Given the description of an element on the screen output the (x, y) to click on. 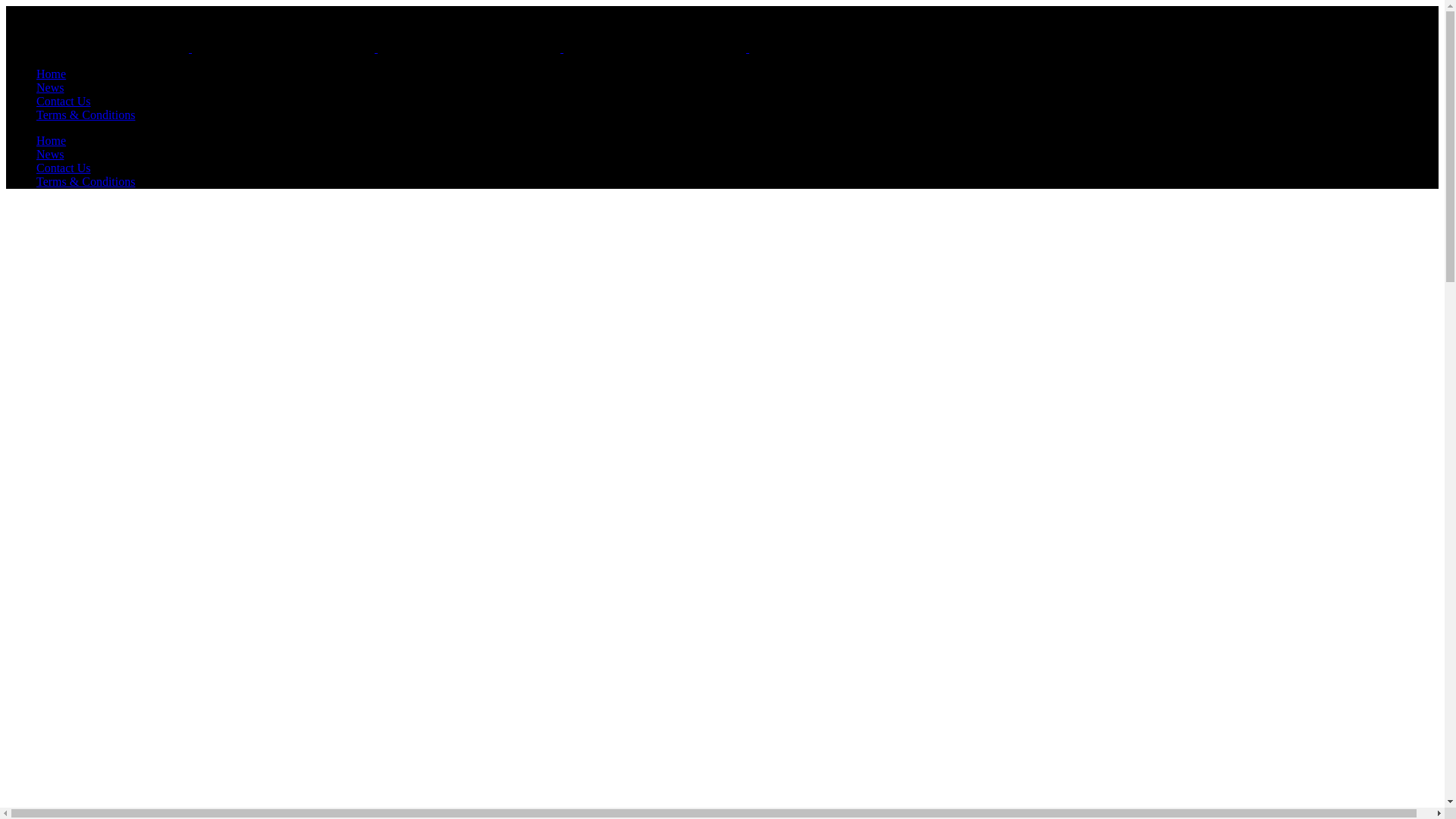
Home (50, 73)
News (50, 154)
Contact Us (63, 101)
News (50, 87)
Home (50, 140)
Contact Us (63, 167)
